Given the description of an element on the screen output the (x, y) to click on. 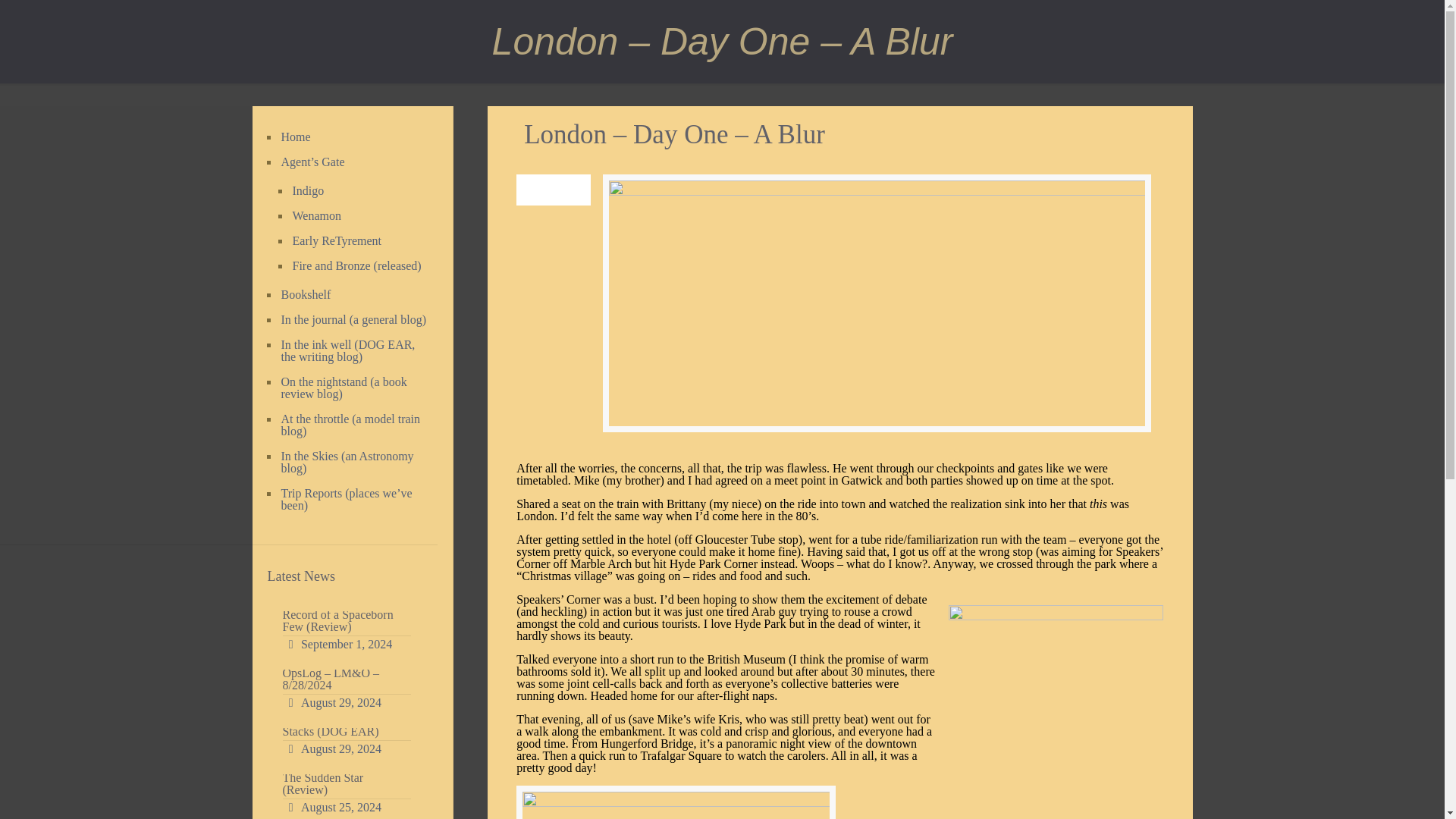
Indigo (355, 191)
Bookshelf (354, 294)
Home (354, 137)
Early ReTyrement (355, 241)
Wenamon (355, 216)
